Given the description of an element on the screen output the (x, y) to click on. 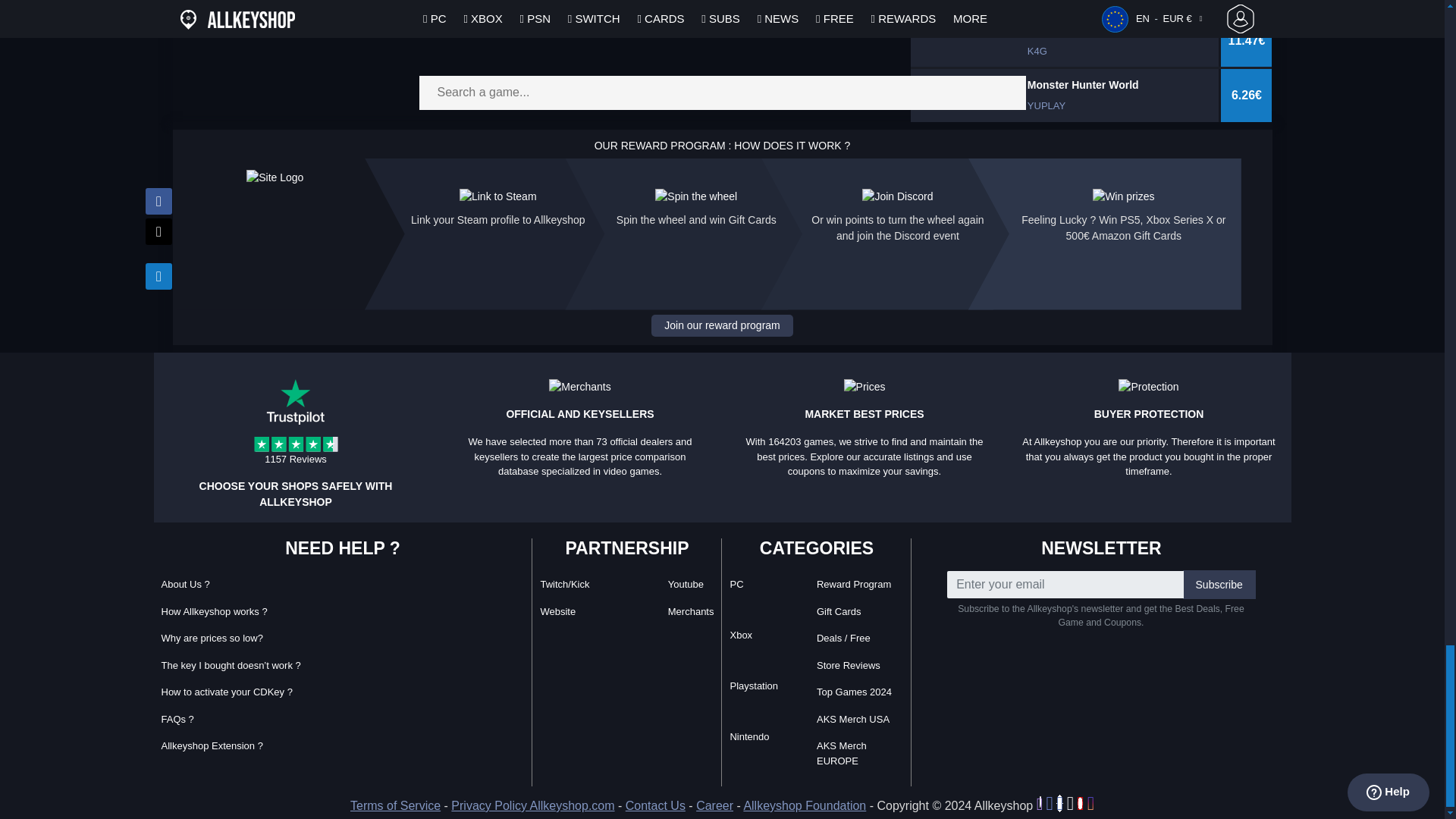
Subscribe (1218, 584)
